Given the description of an element on the screen output the (x, y) to click on. 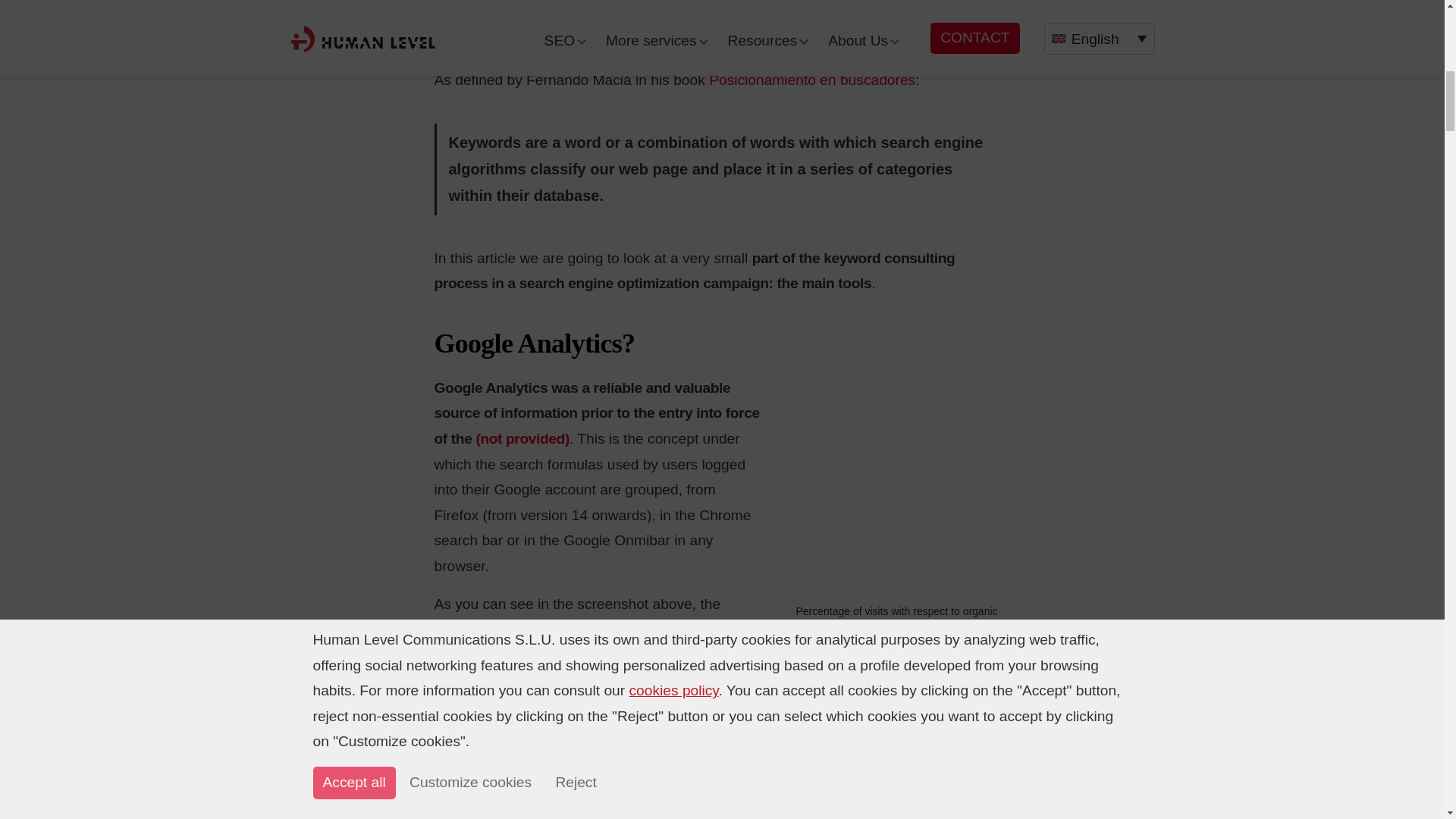
See Not provided in our SEO dictionary (522, 438)
Go to the Search Engine Optimization book file (812, 79)
